Given the description of an element on the screen output the (x, y) to click on. 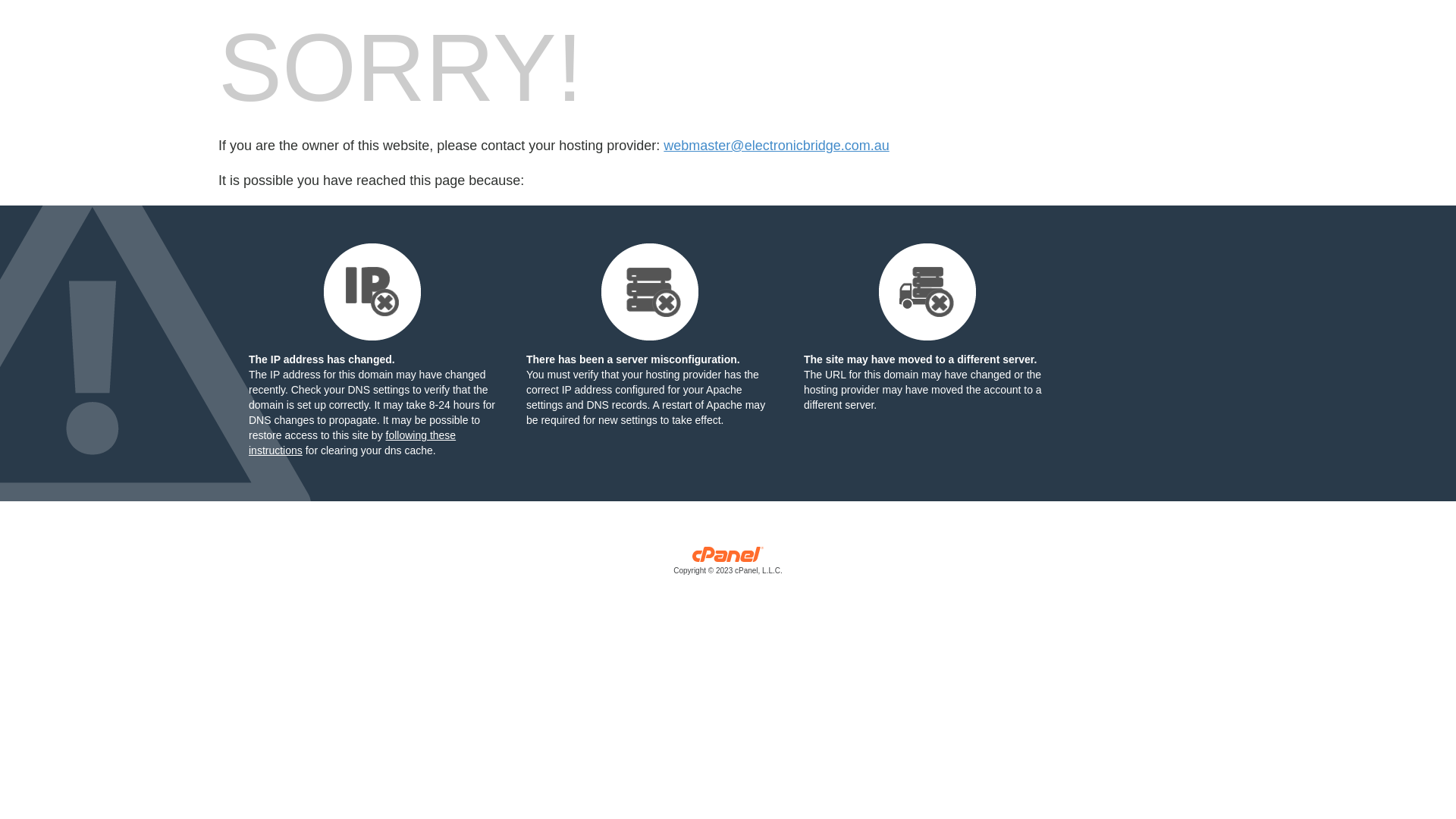
following these instructions Element type: text (351, 442)
webmaster@electronicbridge.com.au Element type: text (775, 145)
